Given the description of an element on the screen output the (x, y) to click on. 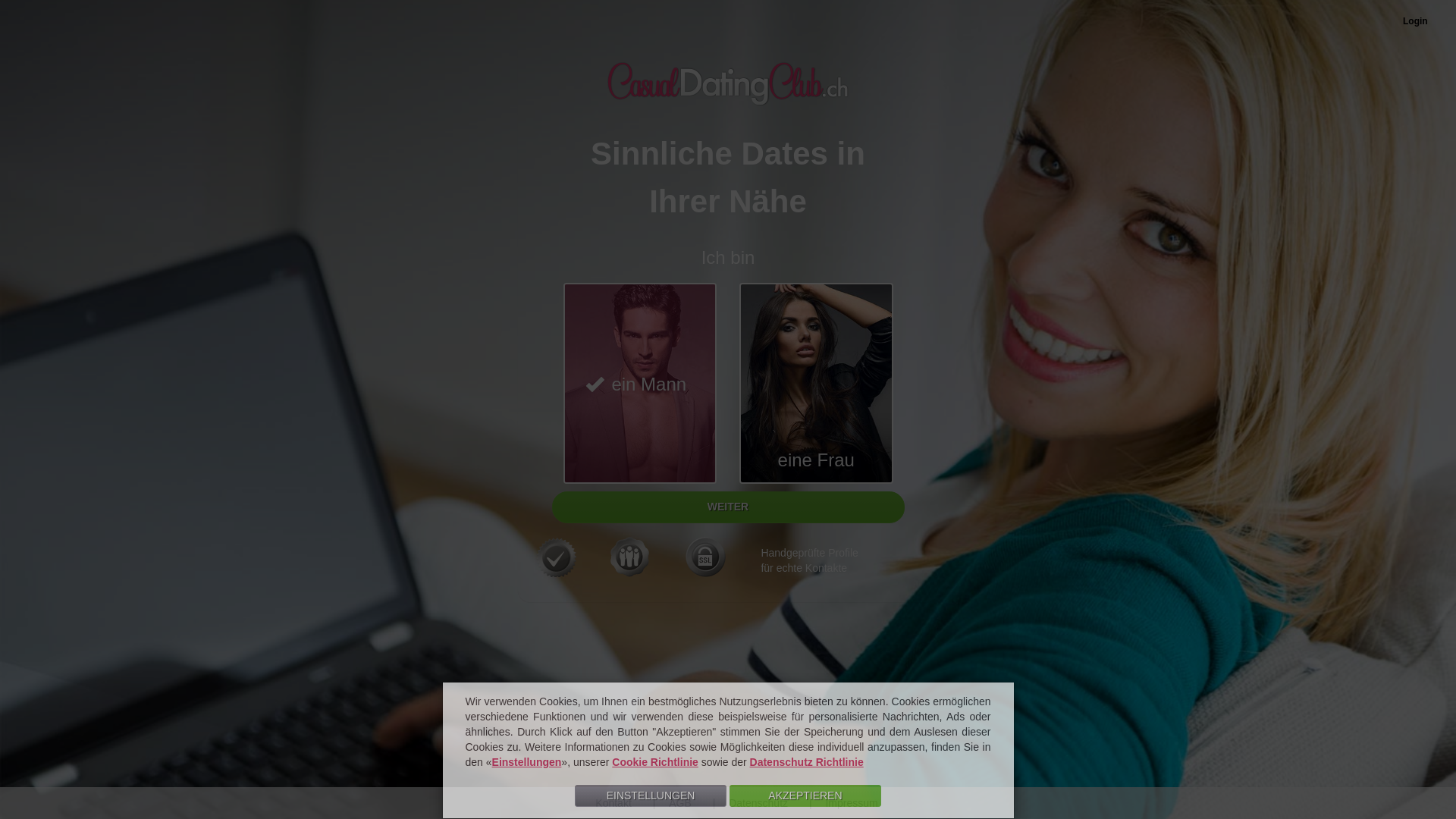
Weiter Element type: text (728, 507)
Einstellungen Element type: text (526, 762)
Kontakt Element type: text (602, 803)
Login Element type: text (1414, 21)
Datenschutz Element type: text (744, 803)
Cookie Richtlinie Element type: text (654, 762)
Impressum Element type: text (838, 803)
Datenschutz Richtlinie Element type: text (806, 762)
AGB Element type: text (666, 803)
